Given the description of an element on the screen output the (x, y) to click on. 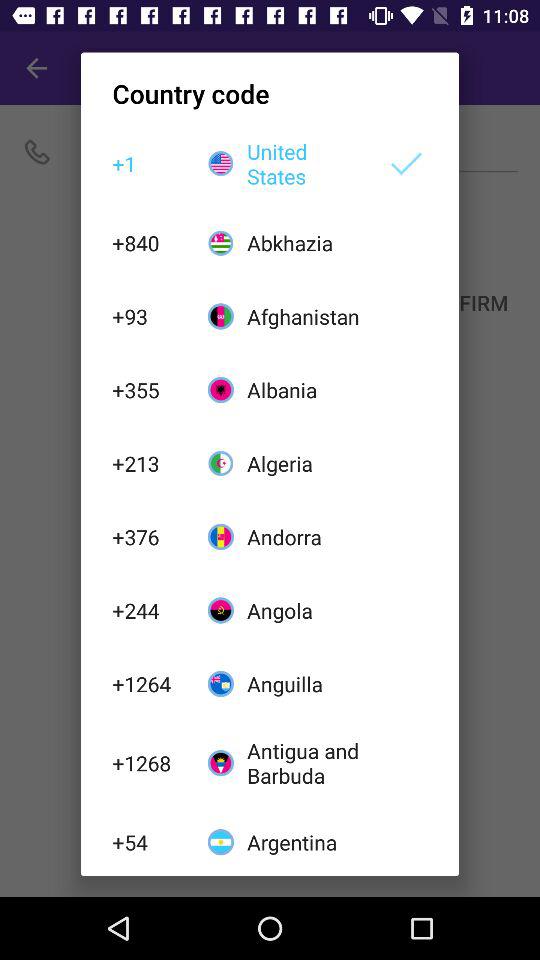
launch the item above the abkhazia icon (305, 163)
